Given the description of an element on the screen output the (x, y) to click on. 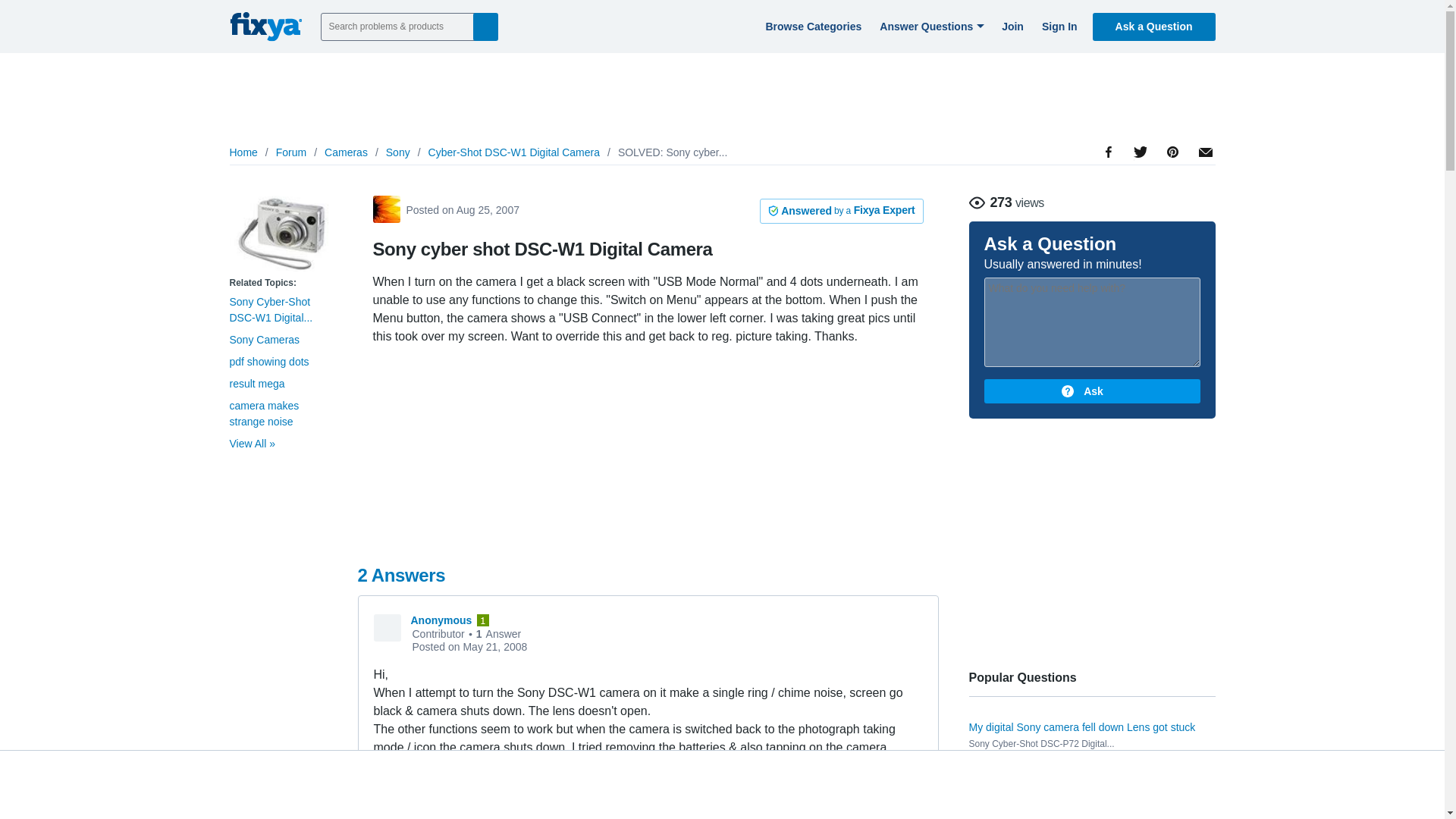
Home (242, 152)
Answer Questions (929, 26)
Forum (290, 152)
Search Fixya (485, 26)
Search Fixya (485, 26)
Sign In (1056, 26)
Search Fixya (485, 26)
Ask (1091, 391)
camera makes strange noise (263, 413)
result mega (255, 383)
Ask a Question (1154, 26)
Browse Categories (810, 26)
Sony Cyber-Shot DSC-W1 Digital... (270, 309)
Sony (397, 152)
Cameras (346, 152)
